Given the description of an element on the screen output the (x, y) to click on. 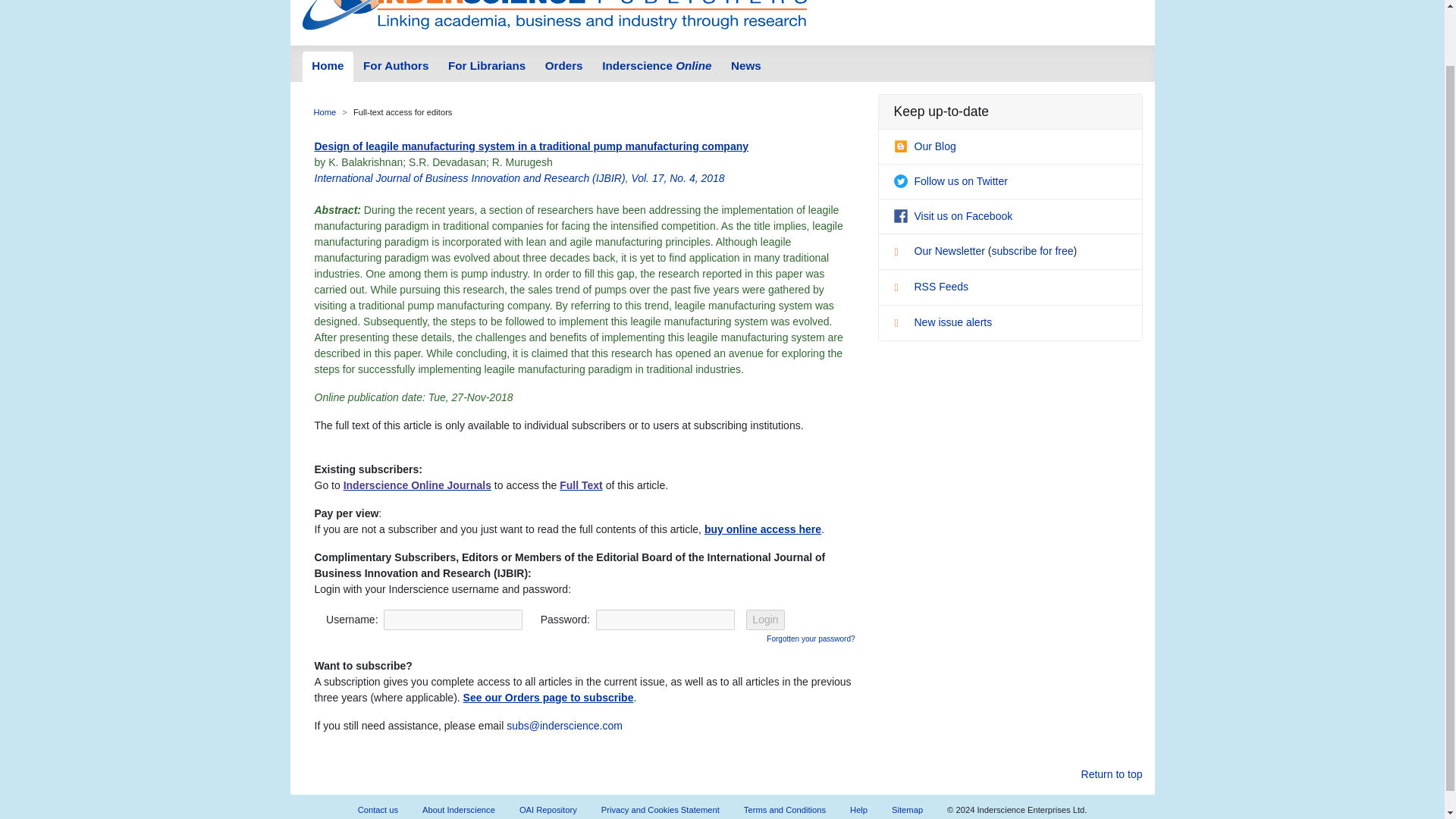
Forgotten your password? (810, 637)
Login (764, 619)
Inderscience Publishers - return to the homepage (553, 16)
For Librarians (486, 66)
Return to the top of the page (1111, 774)
buy online access here (762, 529)
Full Text (580, 485)
Return to top (1111, 774)
RSS Feeds (930, 286)
Our Newsletter (940, 250)
flag (901, 325)
Vol. 17, No. 4, 2018 (676, 177)
Visit us on Facebook (952, 215)
Login (764, 619)
subscribe for free (1032, 250)
